Given the description of an element on the screen output the (x, y) to click on. 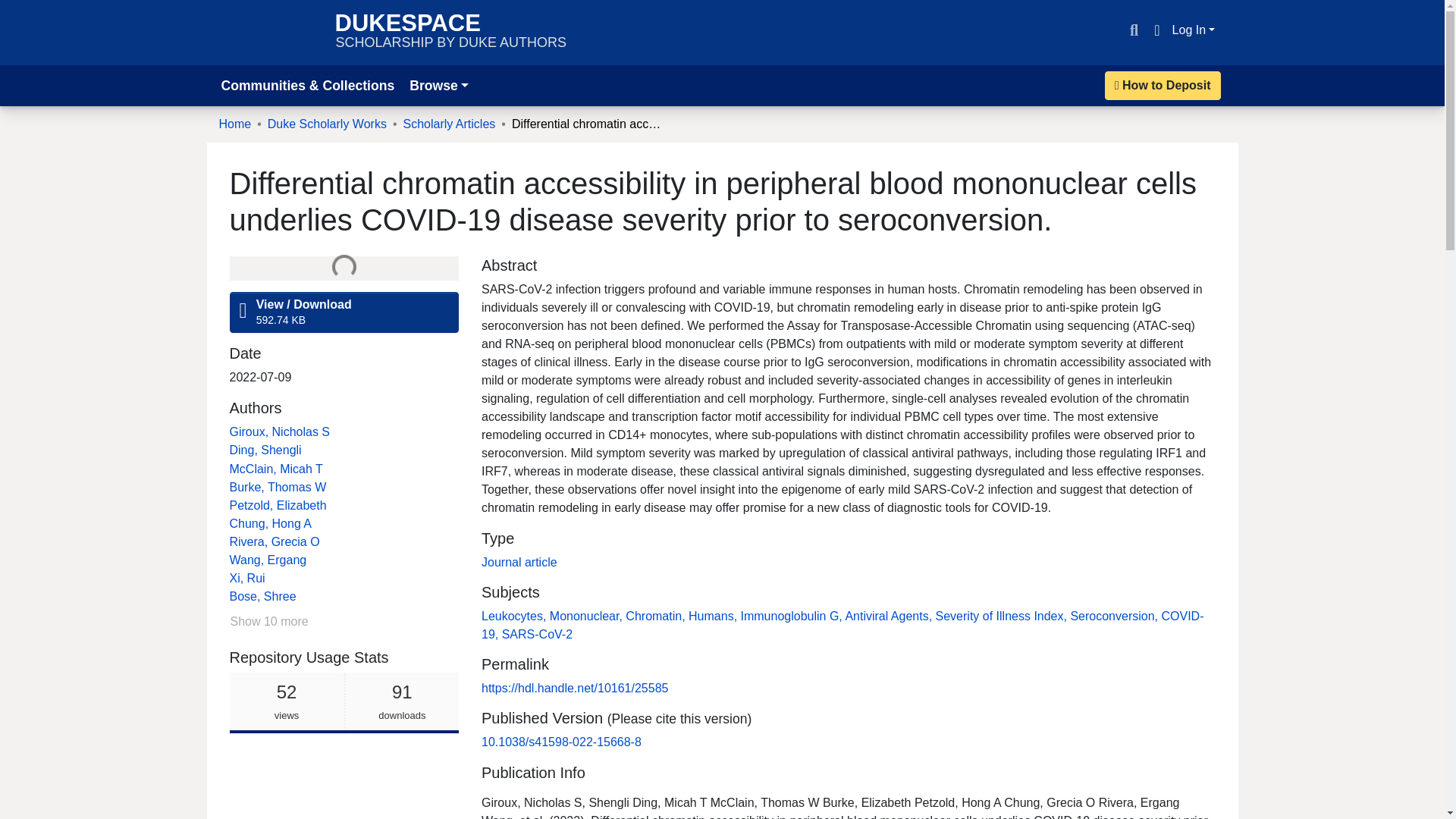
Show 10 more (268, 621)
Log In (1193, 29)
Wang, Ergang (266, 559)
Scholarly Articles (449, 124)
Humans, (450, 32)
McClain, Micah T (713, 615)
Browse (276, 468)
Journal article (438, 85)
Petzold, Elizabeth (519, 562)
Leukocytes, Mononuclear, (277, 504)
Rivera, Grecia O (553, 615)
Chromatin, (273, 541)
Giroux, Nicholas S (657, 615)
Xi, Rui (279, 431)
